Given the description of an element on the screen output the (x, y) to click on. 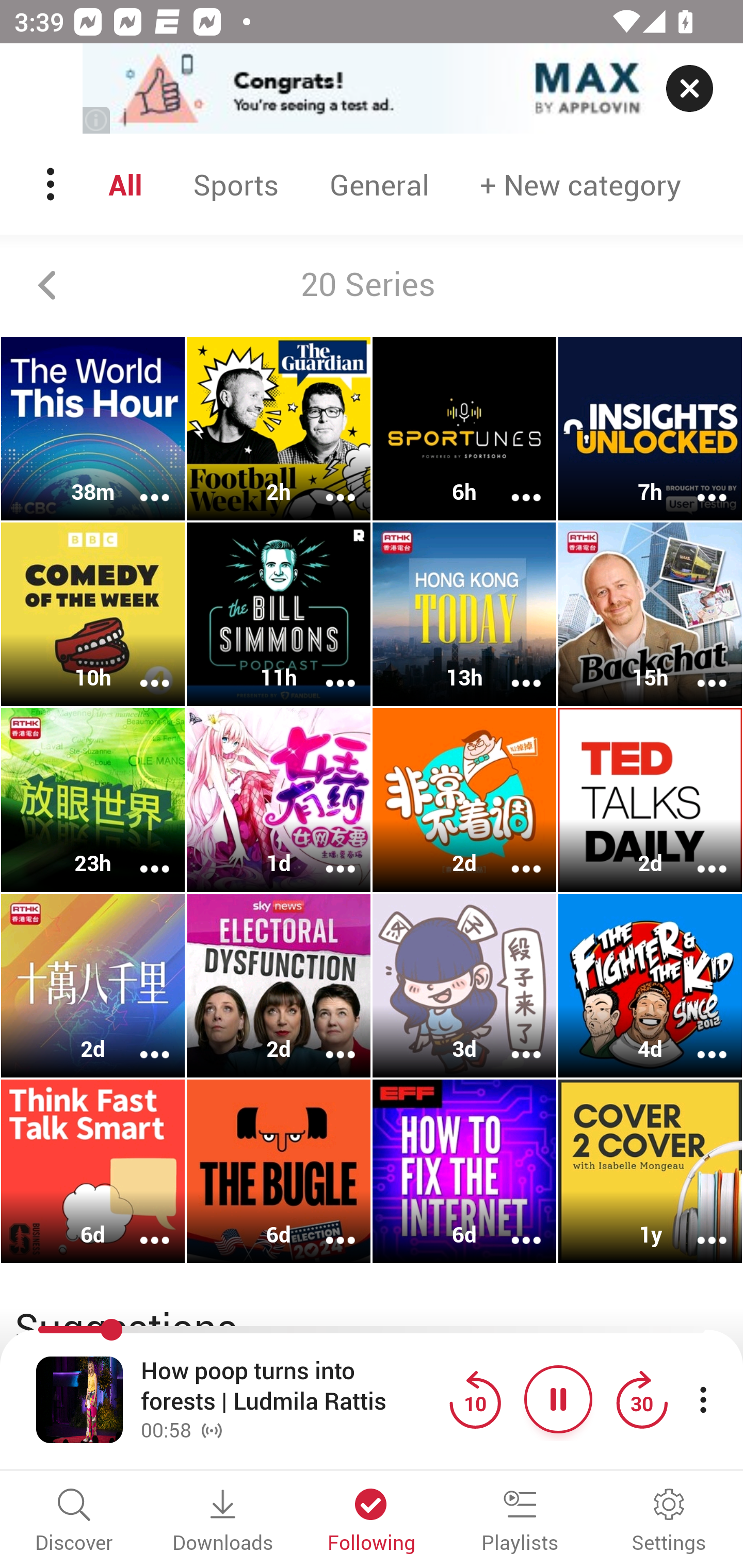
app-monetization (371, 88)
(i) (96, 119)
Menu (52, 184)
All (128, 184)
Sports (235, 184)
General (379, 184)
New category + New category (580, 184)
20 Series (371, 285)
The World This Hour 38m More options More options (92, 428)
Football Weekly 2h More options More options (278, 428)
Sportunes HK 6h More options More options (464, 428)
Insights Unlocked 7h More options More options (650, 428)
More options (141, 484)
More options (326, 484)
More options (512, 484)
More options (698, 484)
Comedy of the Week 10h More options More options (92, 614)
Hong Kong Today 13h More options More options (464, 614)
Backchat 15h More options More options (650, 614)
More options (141, 669)
More options (326, 669)
More options (512, 669)
More options (698, 669)
放眼世界 23h More options More options (92, 799)
女王有药丨爆笑脱口秀 1d More options More options (278, 799)
非常不着调 2d More options More options (464, 799)
TED Talks Daily 2d More options More options (650, 799)
More options (141, 856)
More options (326, 856)
More options (512, 856)
More options (698, 856)
十萬八千里 2d More options More options (92, 985)
Electoral Dysfunction 2d More options More options (278, 985)
段子来了 3d More options More options (464, 985)
The Fighter & The Kid 4d More options More options (650, 985)
More options (141, 1041)
More options (326, 1041)
More options (512, 1041)
More options (698, 1041)
The Bugle 6d More options More options (278, 1170)
Cover 2 Cover 1y More options More options (650, 1170)
More options (141, 1227)
More options (326, 1227)
More options (512, 1227)
More options (698, 1227)
Open fullscreen player (79, 1399)
More player controls (703, 1399)
How poop turns into forests | Ludmila Rattis (290, 1385)
Pause button (558, 1398)
Jump back (475, 1399)
Jump forward (641, 1399)
Discover (74, 1521)
Downloads (222, 1521)
Following (371, 1521)
Playlists (519, 1521)
Settings (668, 1521)
